Given the description of an element on the screen output the (x, y) to click on. 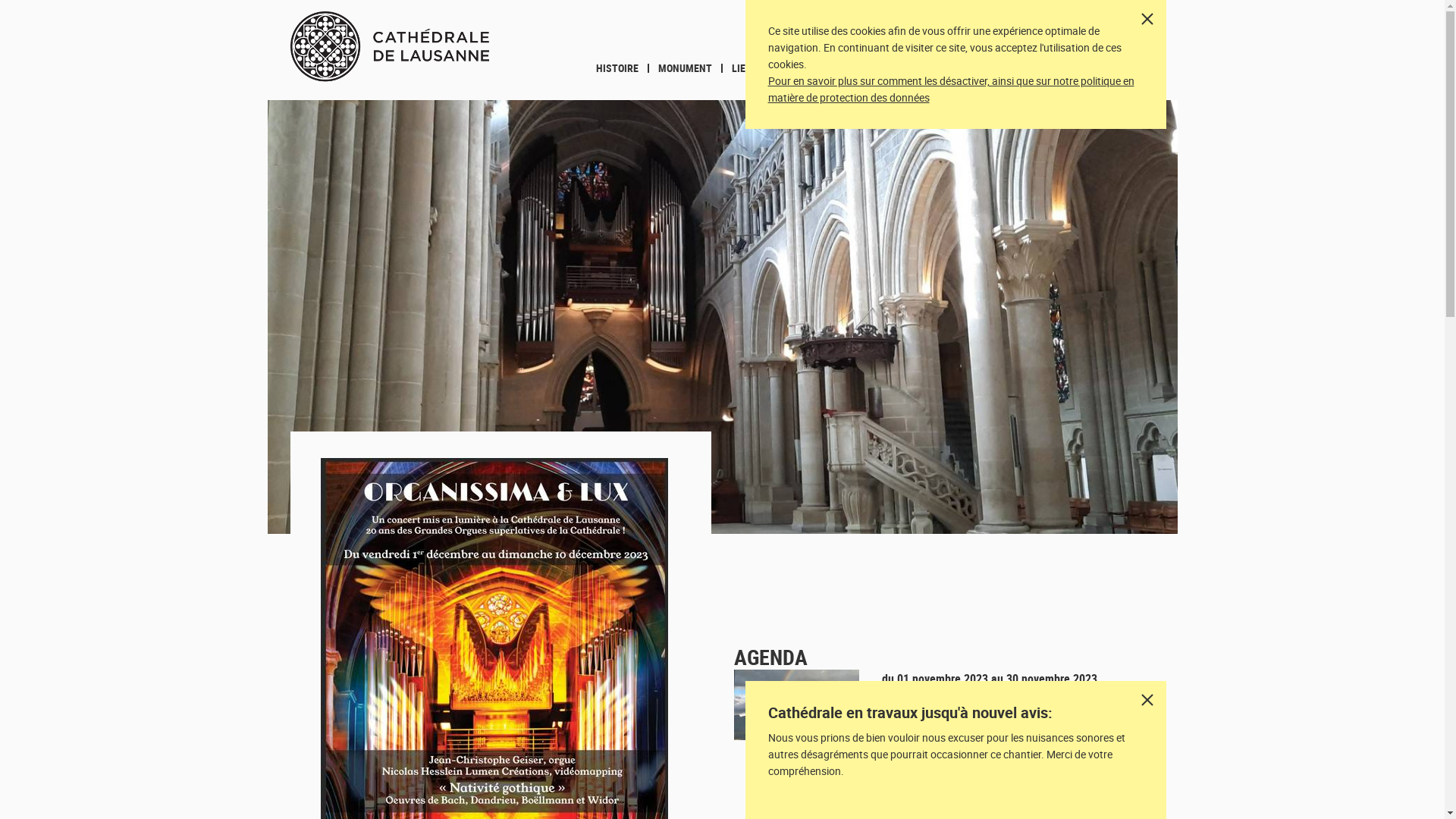
Partenaires Element type: text (1119, 23)
MONUMENT Element type: text (684, 68)
HISTOIRE Element type: text (617, 68)
Rechercher Element type: text (1141, 67)
VISITES Element type: text (974, 68)
Dismiss Element type: text (1146, 699)
